Given the description of an element on the screen output the (x, y) to click on. 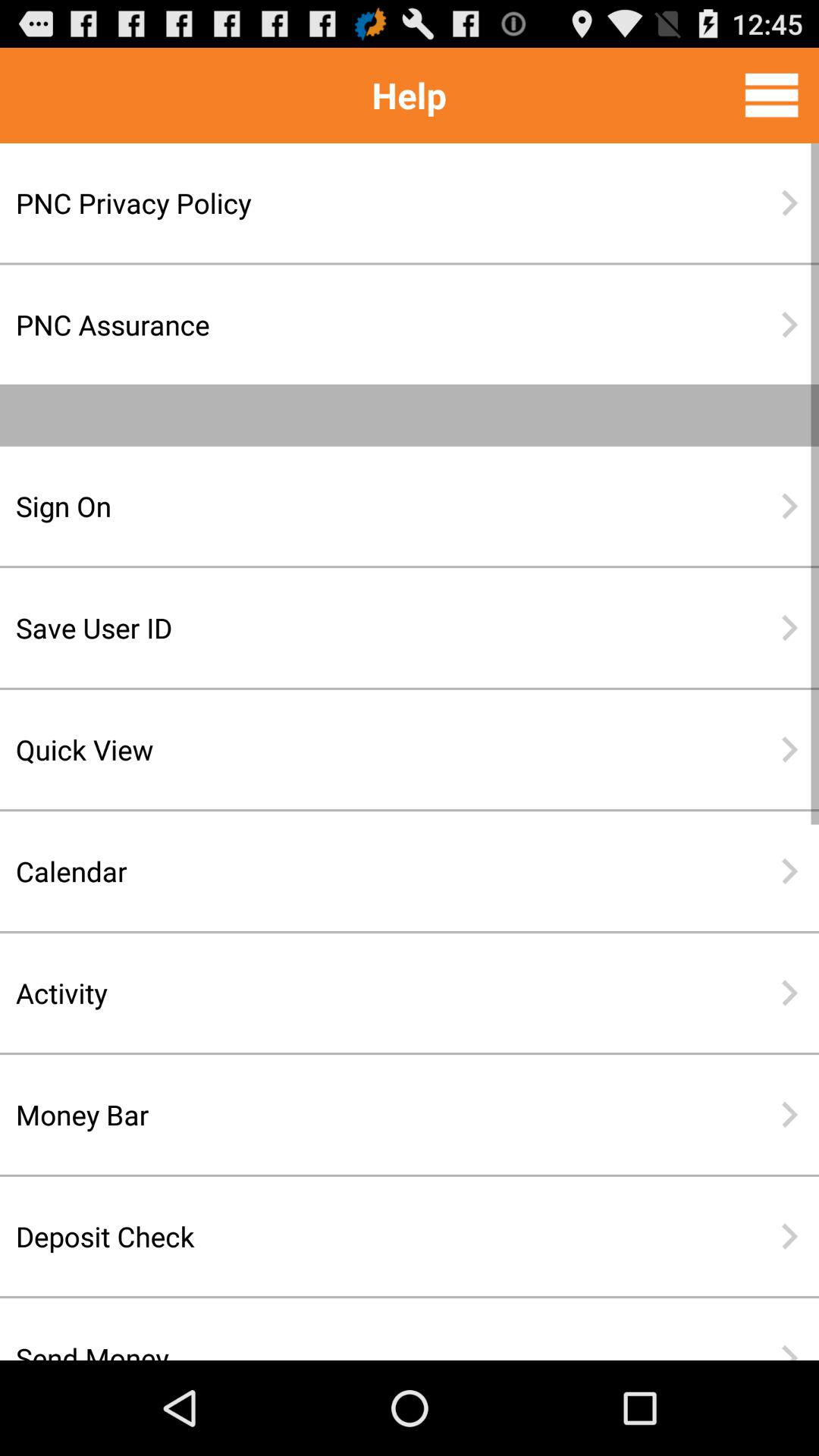
choose the sign on icon (359, 505)
